Given the description of an element on the screen output the (x, y) to click on. 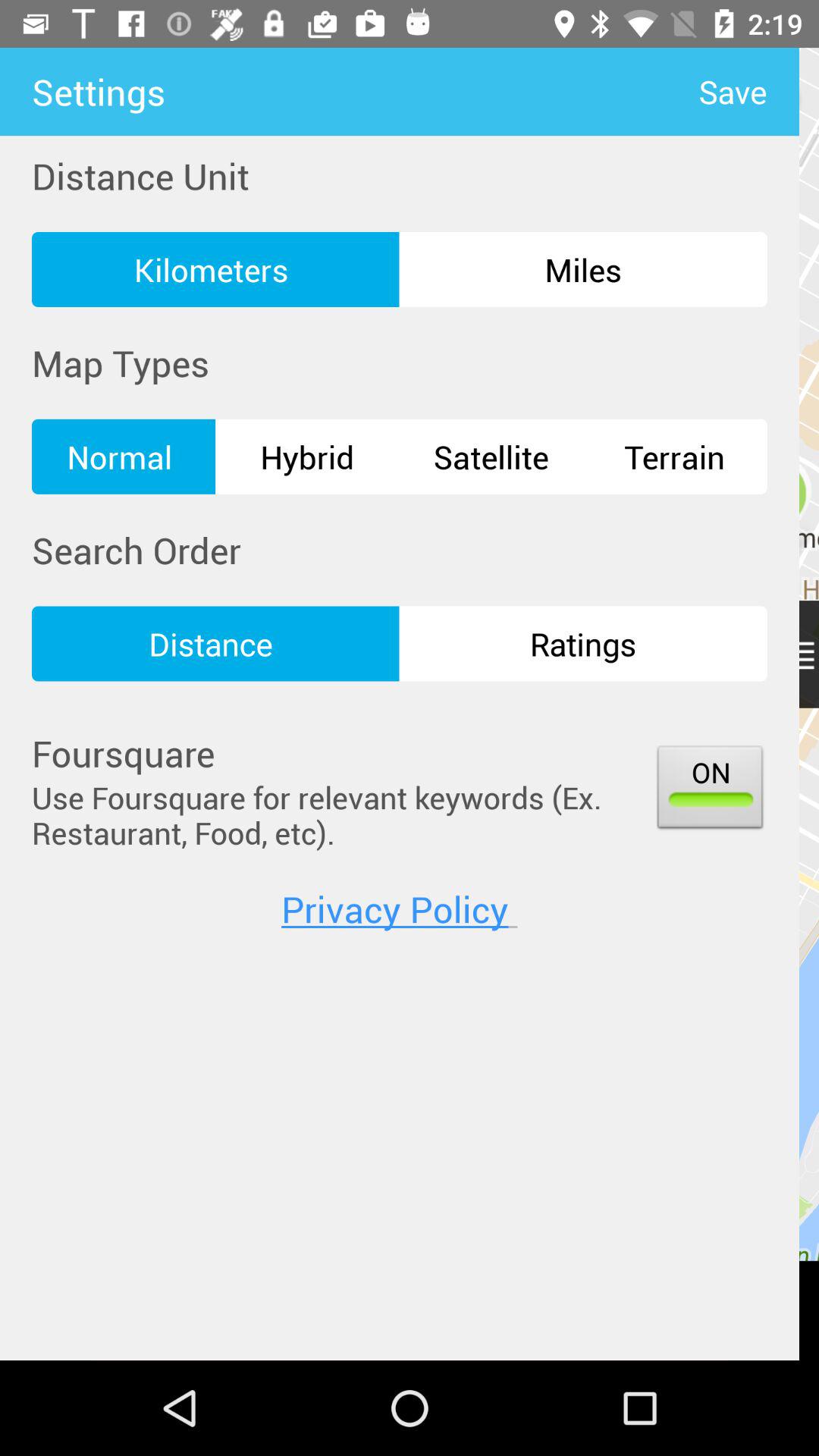
select item next to satellite item (674, 456)
